Given the description of an element on the screen output the (x, y) to click on. 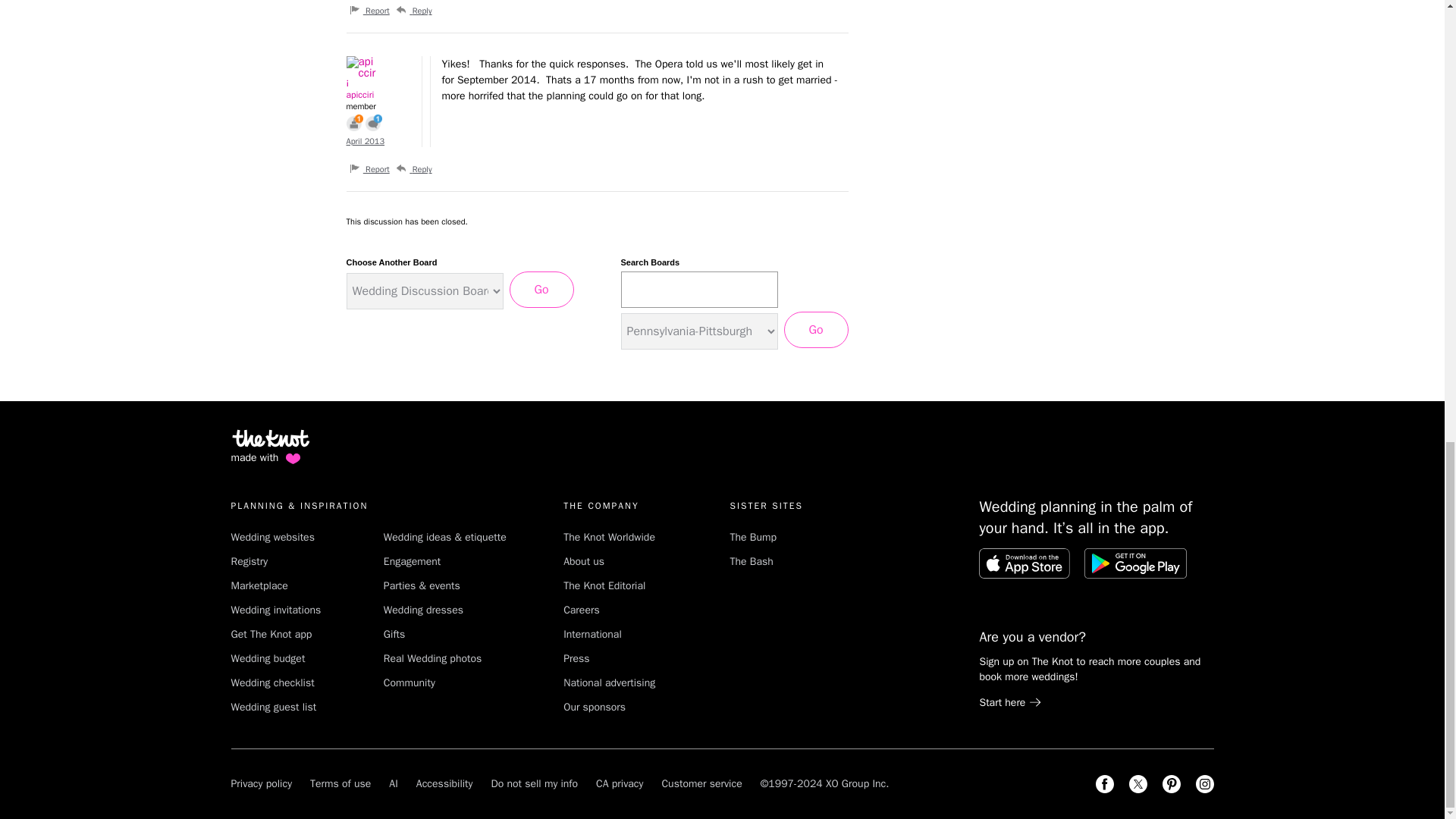
love (292, 458)
Go (816, 330)
Go (541, 289)
